Given the description of an element on the screen output the (x, y) to click on. 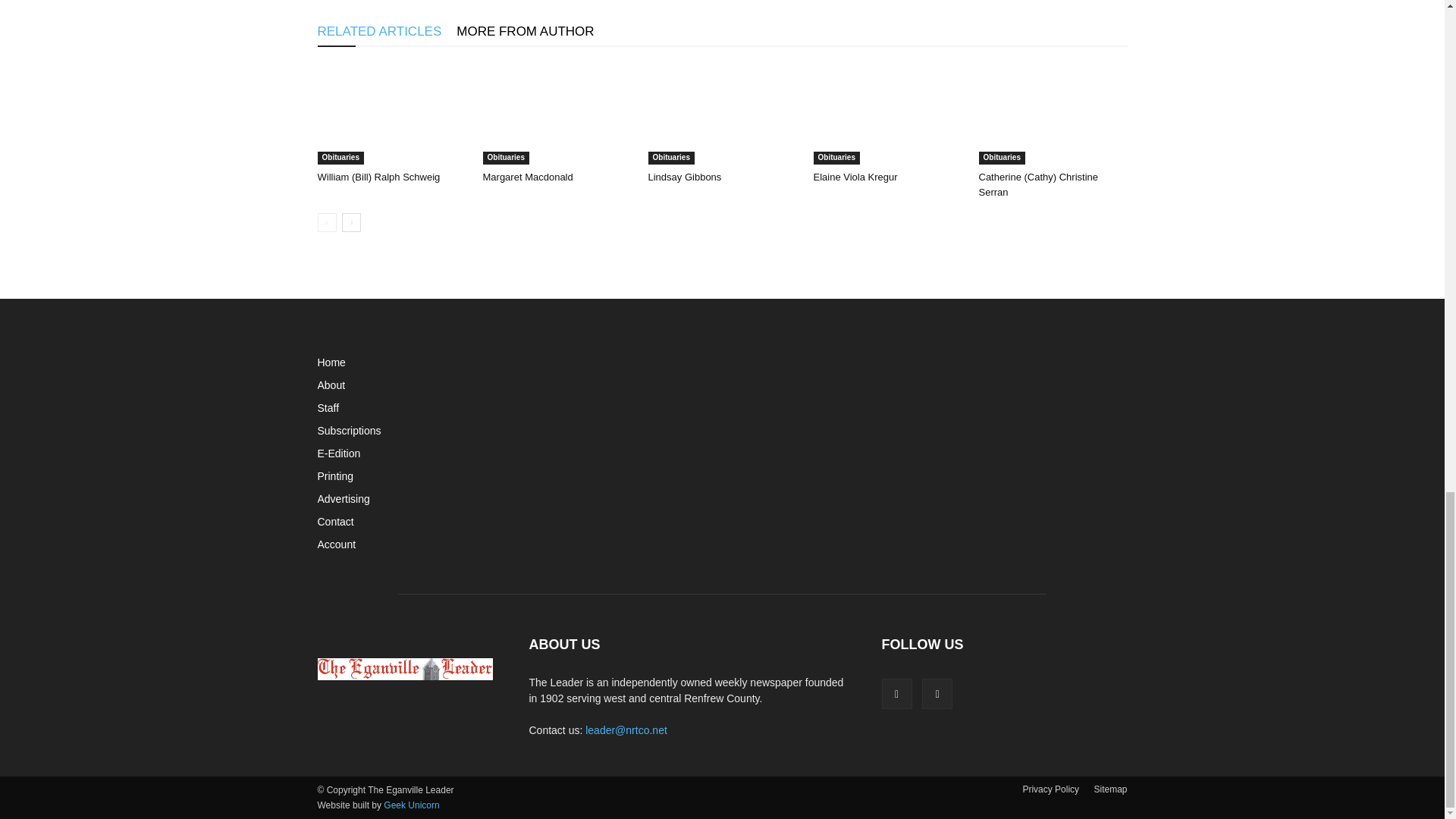
Margaret Macdonald (555, 113)
